Given the description of an element on the screen output the (x, y) to click on. 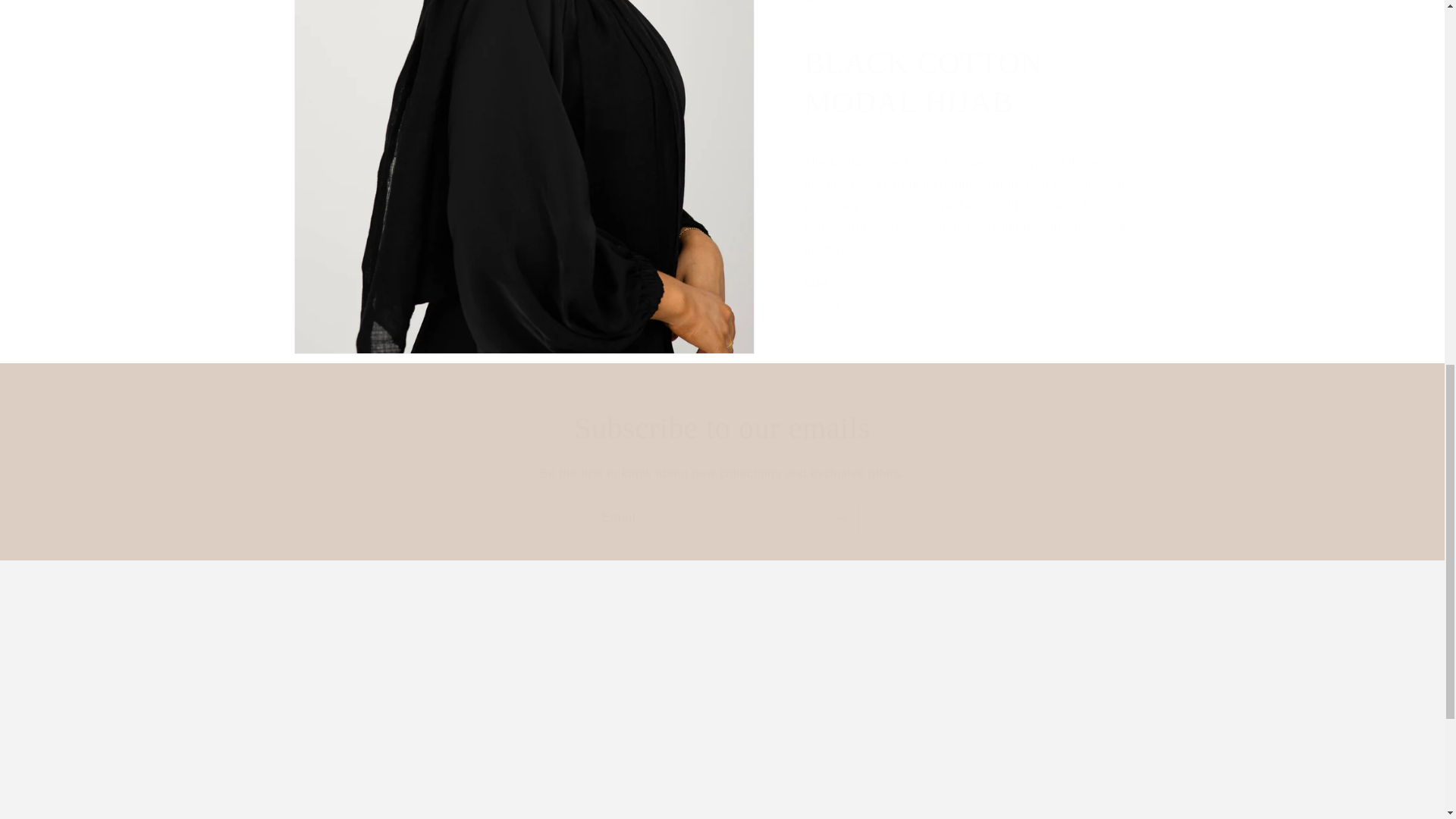
Subscribe to our emails (721, 427)
Open media 1 in modal (523, 31)
Email (722, 518)
Large View (842, 1)
